Given the description of an element on the screen output the (x, y) to click on. 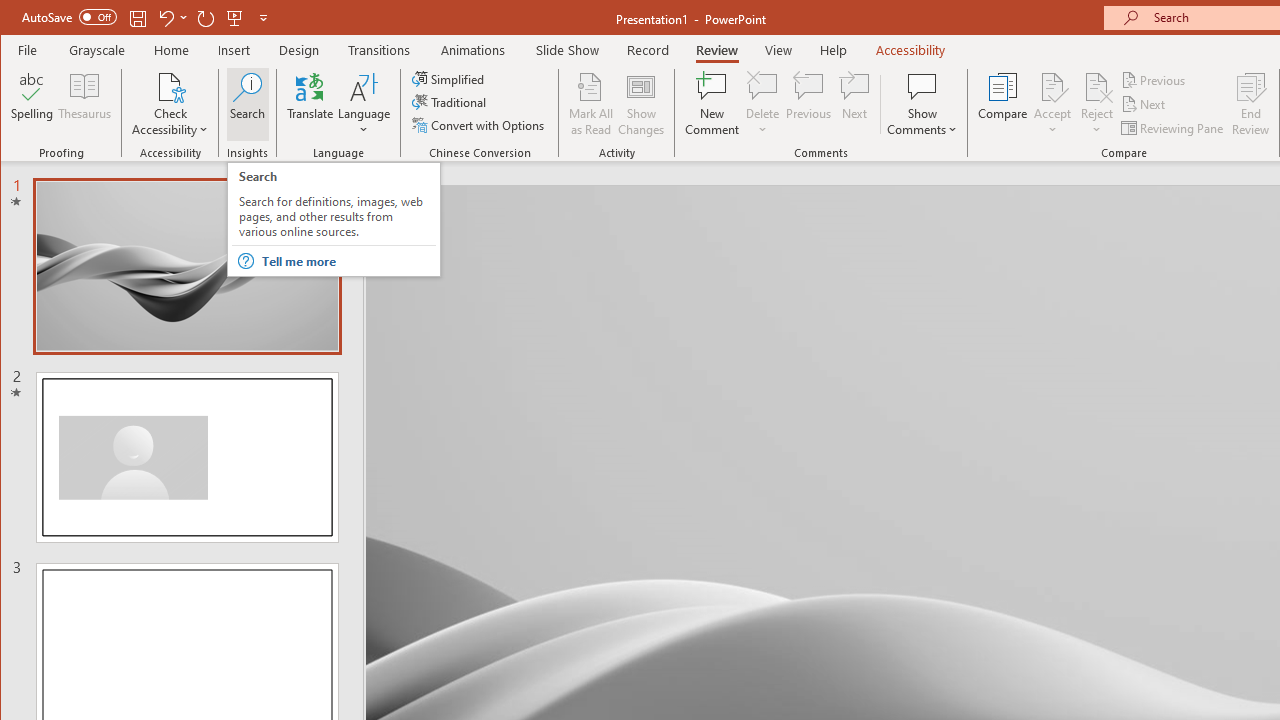
Compare (1002, 104)
Tell me more (347, 261)
Show Comments (922, 104)
Accept (1052, 104)
